Given the description of an element on the screen output the (x, y) to click on. 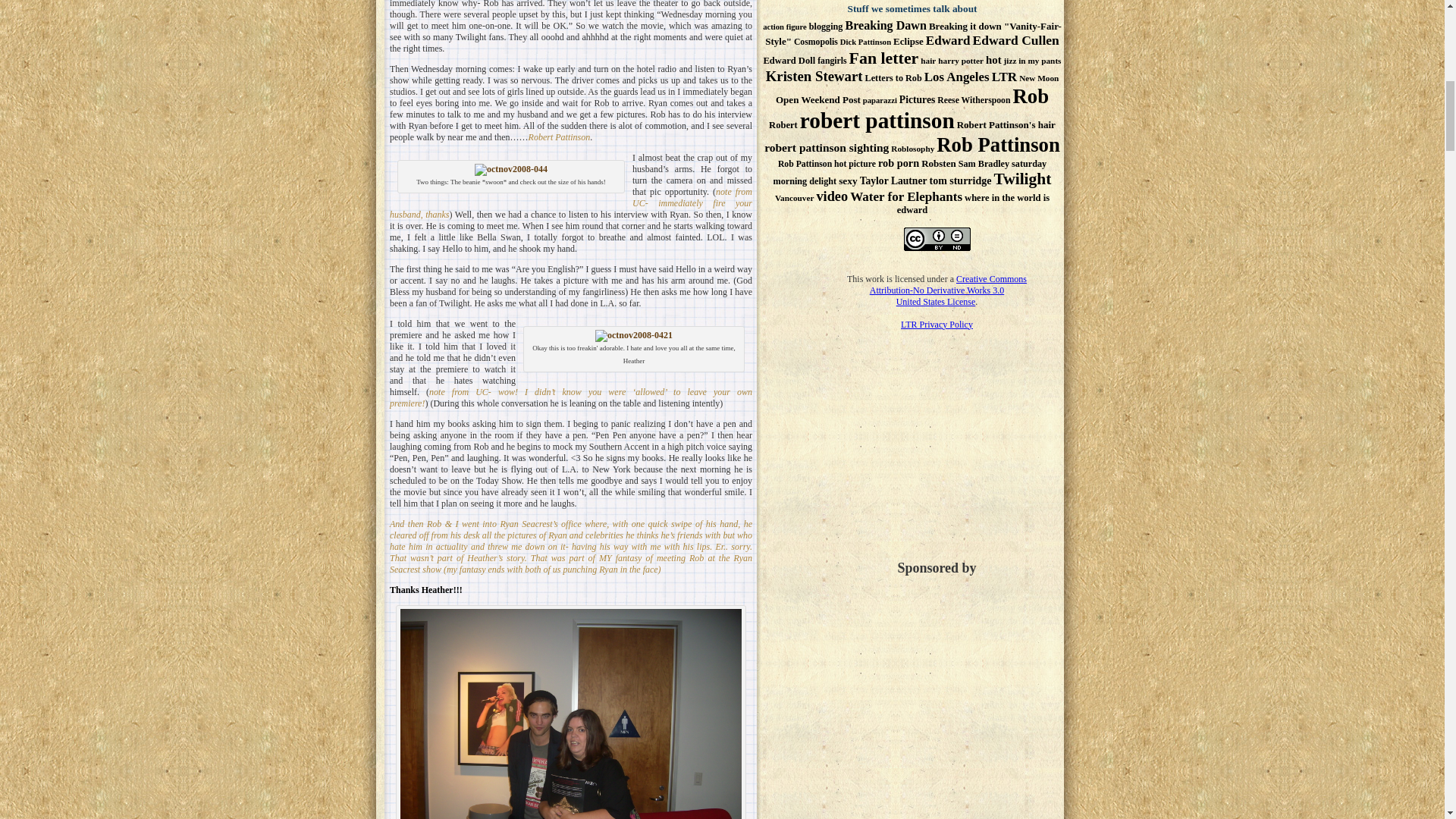
octnov2008-0421 (633, 336)
octnov2008-0362 (570, 714)
octnov2008-044 (510, 169)
